Given the description of an element on the screen output the (x, y) to click on. 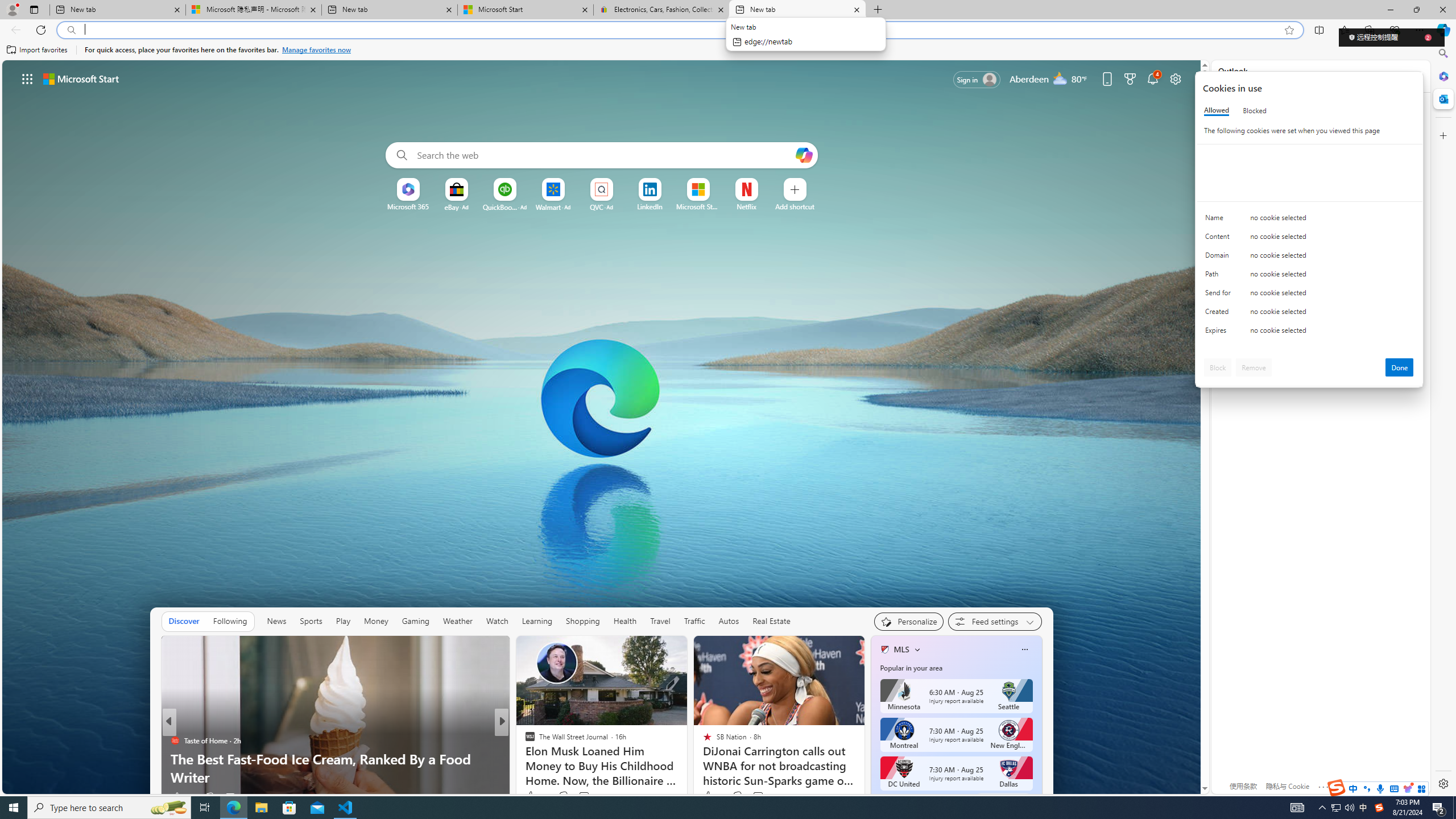
Fadeaway World (524, 740)
Microsoft (1255, 113)
Remove (1253, 367)
The Hill (524, 740)
View comments 65 Comment (580, 797)
Blocked (1255, 110)
MarketWatch (524, 740)
264 Like (536, 795)
Class: c0153 c0157 (1309, 332)
View comments 10 Comment (576, 797)
Send for (1219, 295)
